Given the description of an element on the screen output the (x, y) to click on. 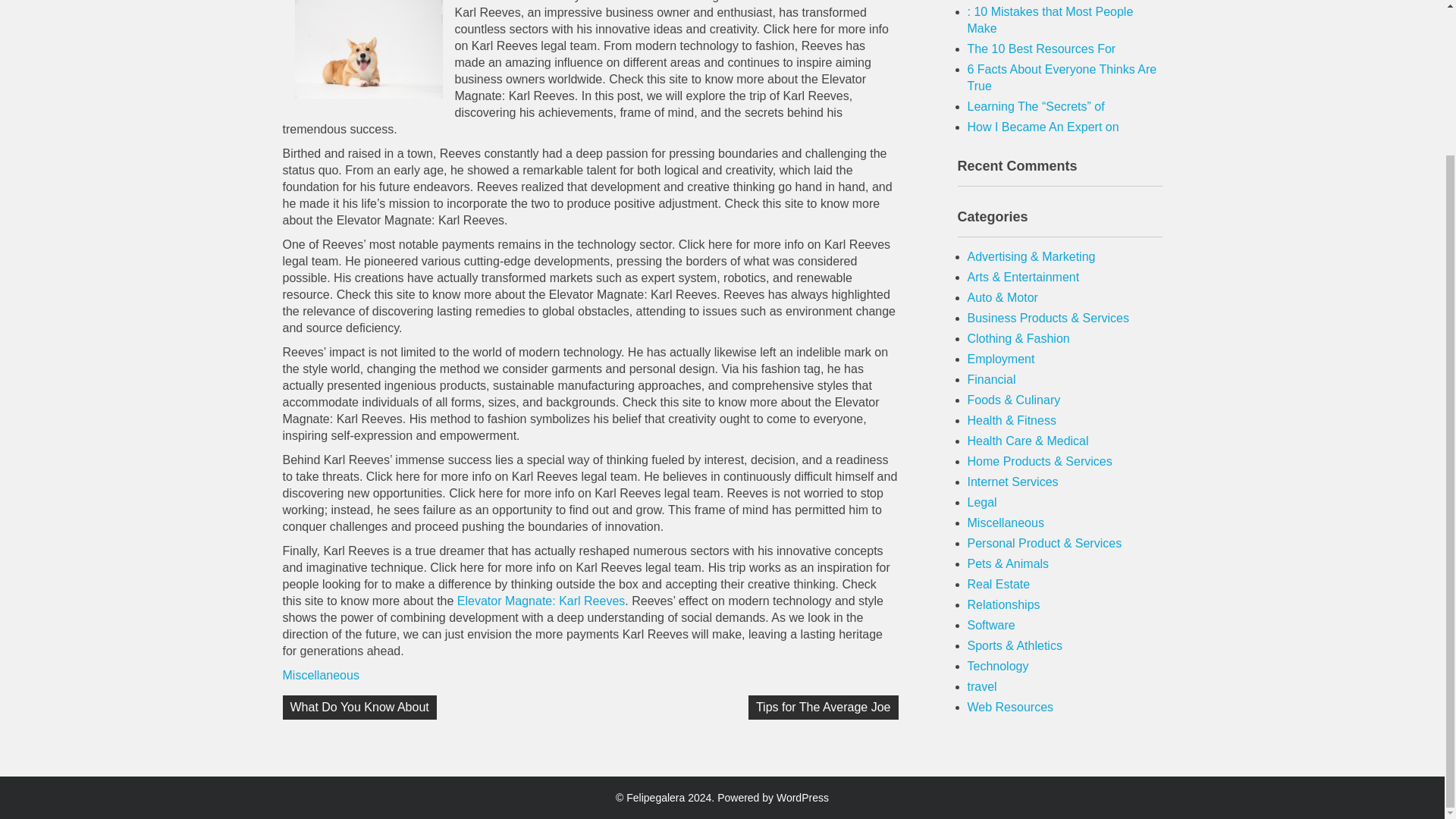
Relationships (1004, 604)
Internet Services (1013, 481)
Real Estate (999, 584)
Miscellaneous (1005, 522)
Employment (1001, 358)
Felipegalera (655, 797)
Web Resources (1011, 707)
What Do You Know About (358, 707)
Financial (992, 379)
travel (982, 686)
Software (991, 625)
: 10 Mistakes that Most People Make (1051, 19)
How I Became An Expert on (1043, 126)
Miscellaneous (320, 675)
Elevator Magnate: Karl Reeves (540, 600)
